Given the description of an element on the screen output the (x, y) to click on. 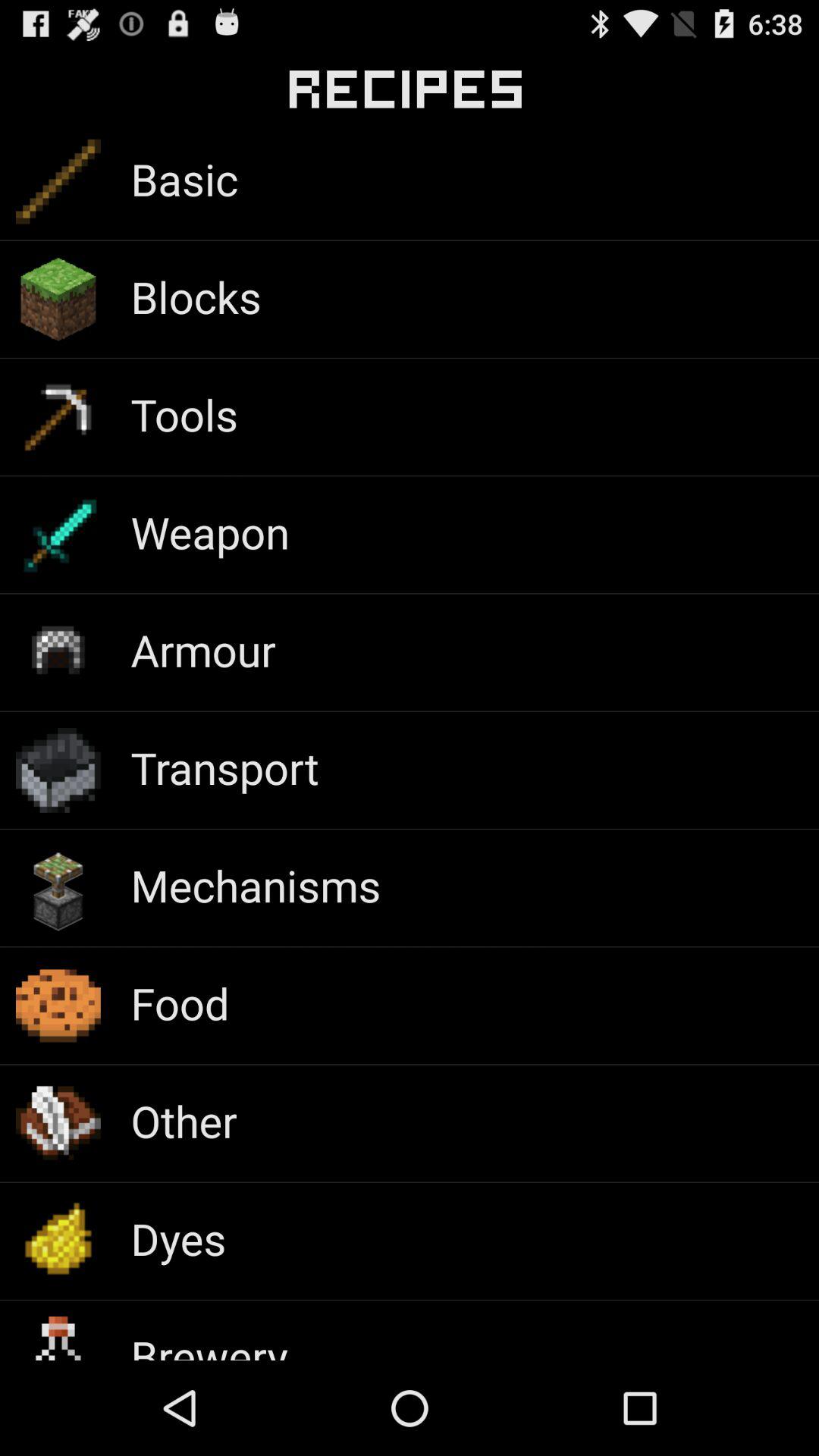
click on the icon which is beside basic (57, 181)
click on the icon which is beside armour (57, 652)
click symbol beside tools (57, 417)
